Given the description of an element on the screen output the (x, y) to click on. 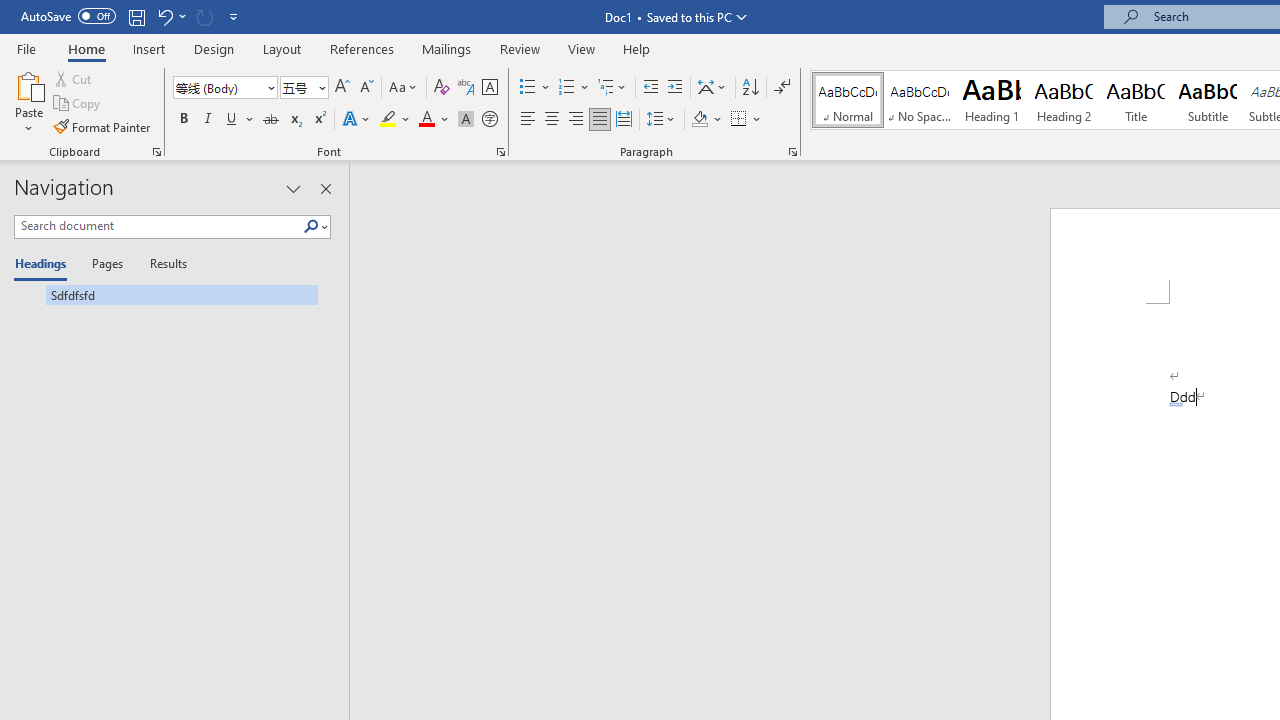
Heading 2 (1063, 100)
